Given the description of an element on the screen output the (x, y) to click on. 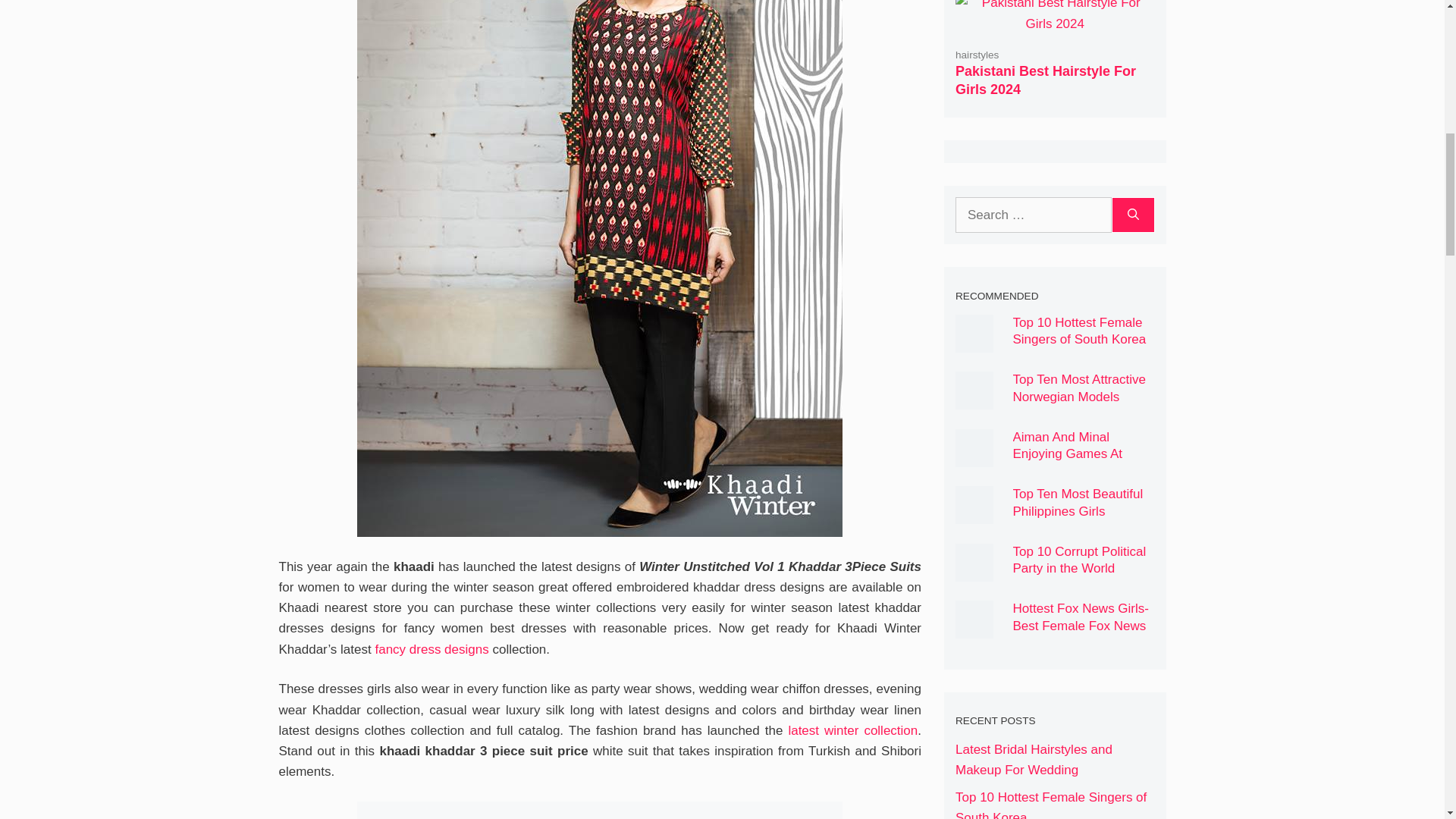
fancy dress designs (430, 649)
fancy dress designs (430, 649)
latest winter collection (852, 730)
latest winter collection (852, 730)
